Given the description of an element on the screen output the (x, y) to click on. 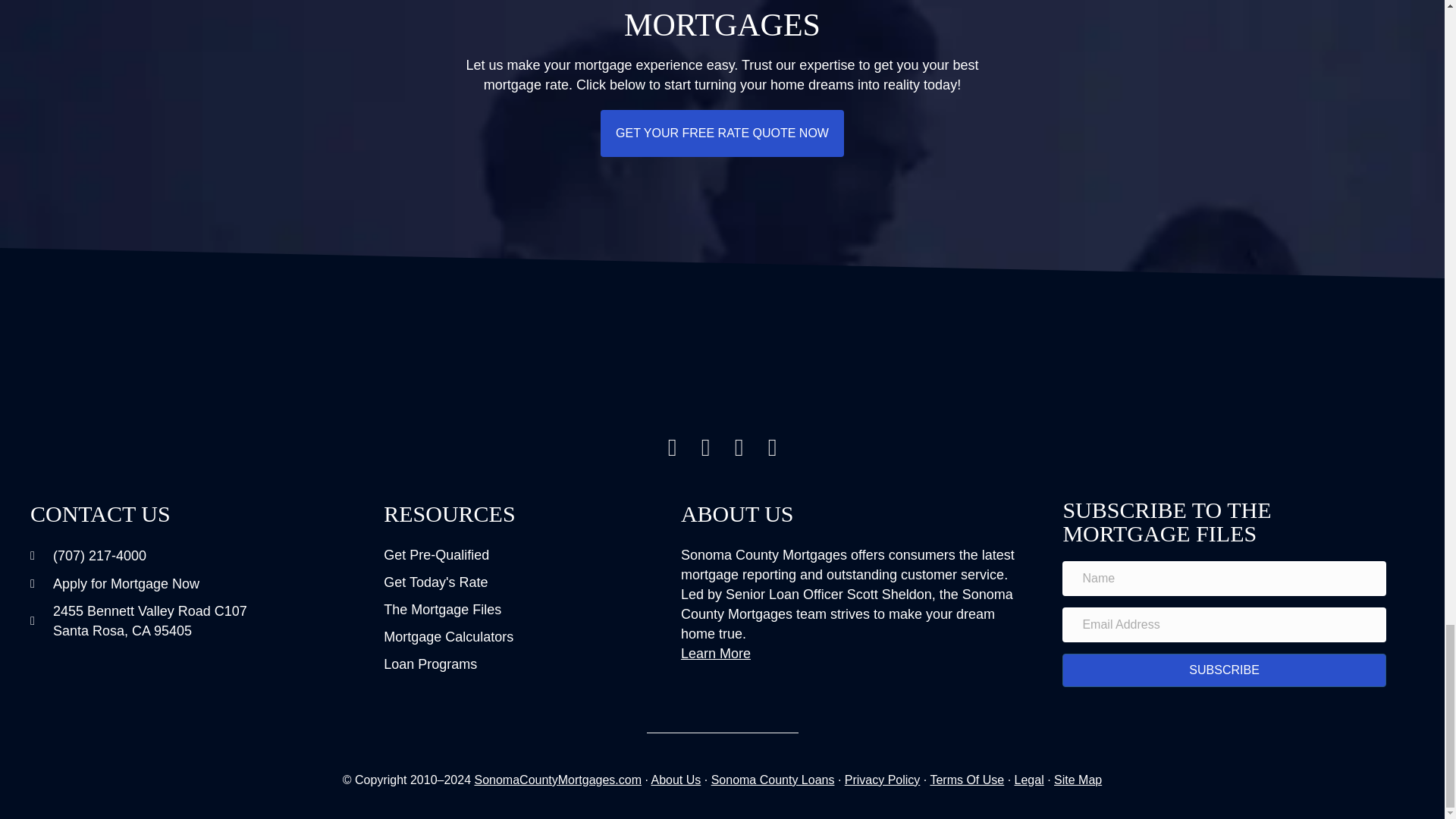
GET YOUR FREE RATE QUOTE NOW (721, 133)
Instagram (672, 447)
Sonoma County Mortgages Scott Sheldon Senior Loan Officer (721, 374)
Google Plus (739, 447)
LinkedIn (773, 447)
Facebook (706, 447)
